Given the description of an element on the screen output the (x, y) to click on. 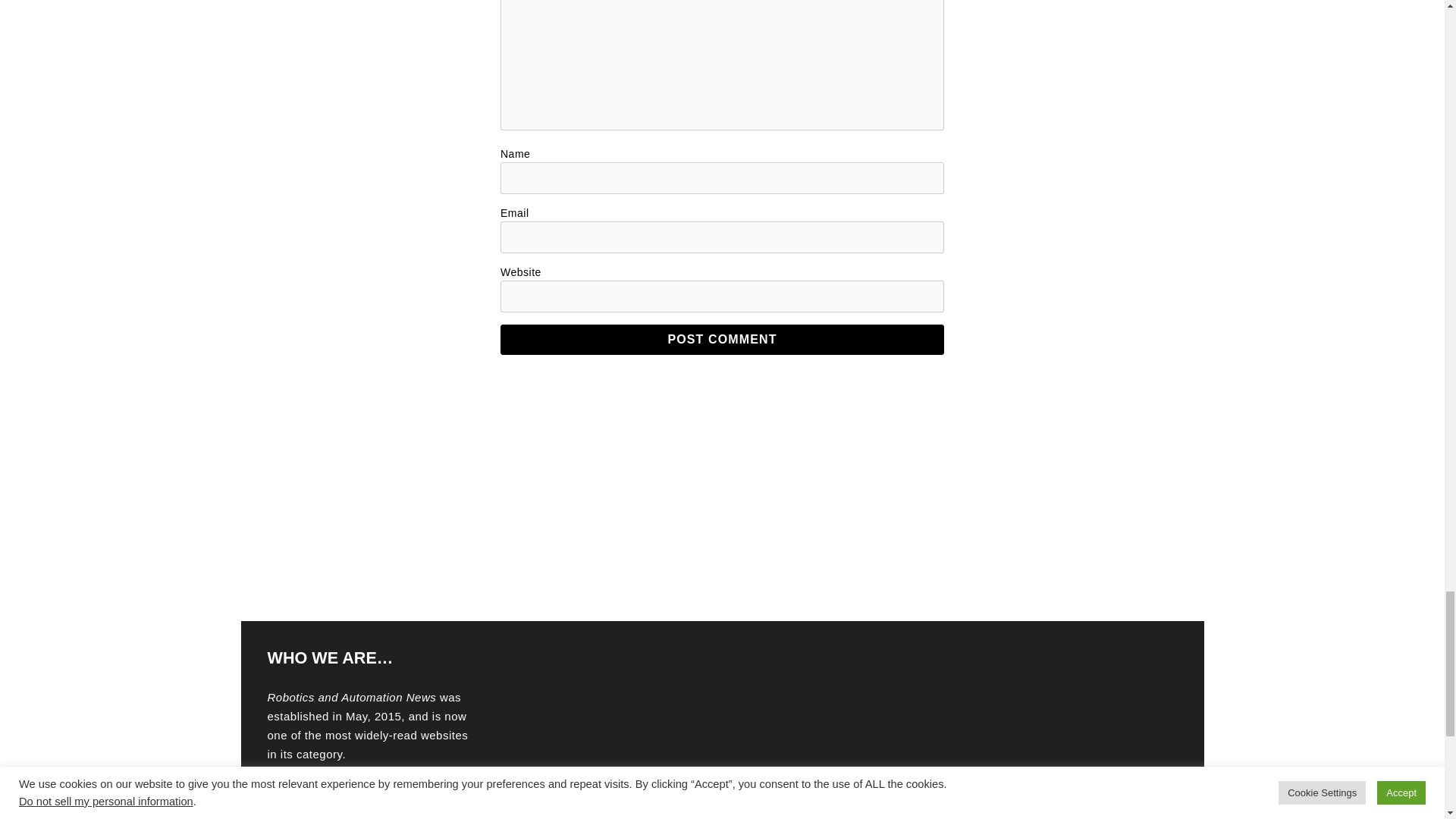
Post Comment (721, 339)
